Given the description of an element on the screen output the (x, y) to click on. 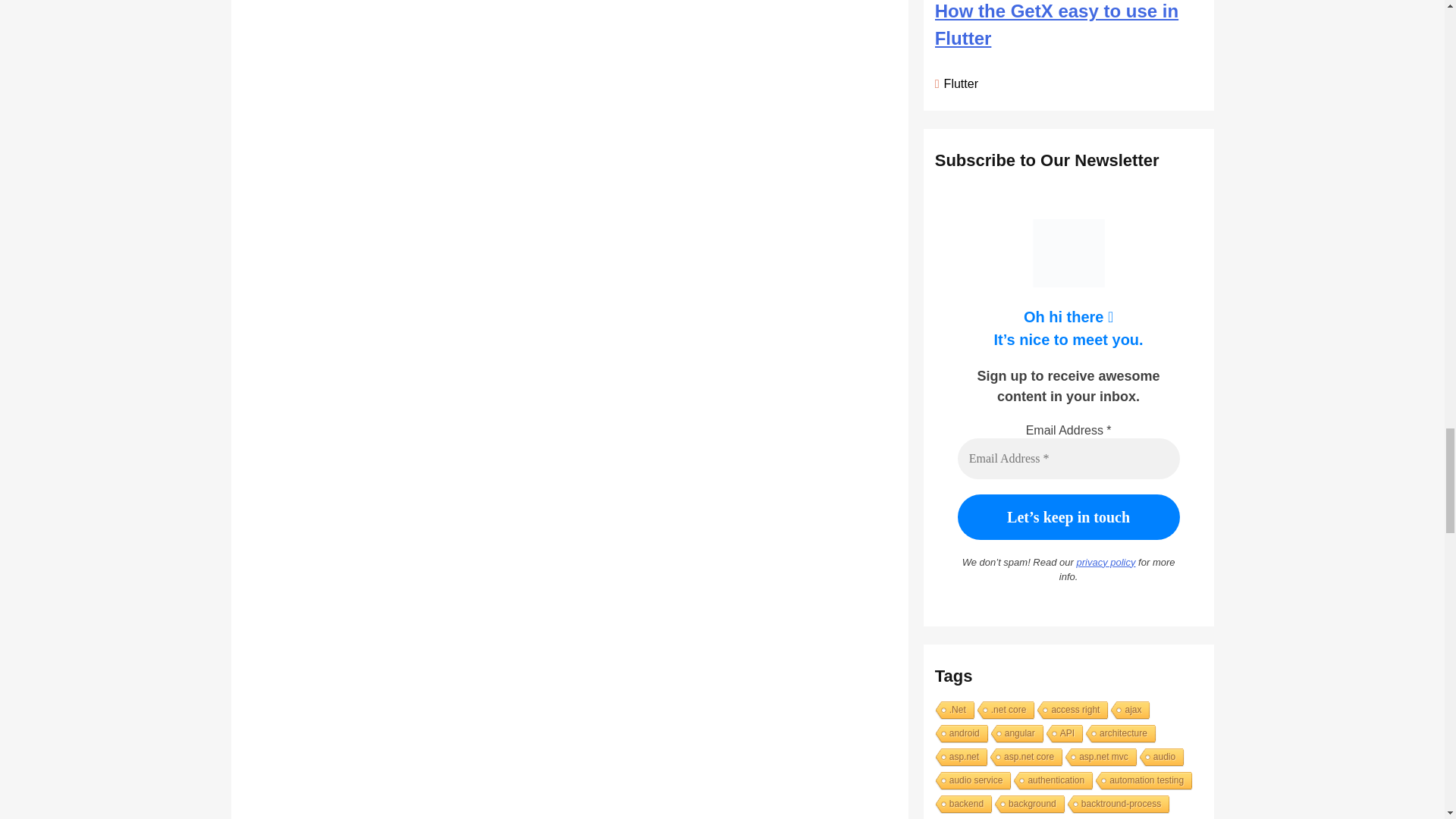
Email Address (1068, 458)
